Given the description of an element on the screen output the (x, y) to click on. 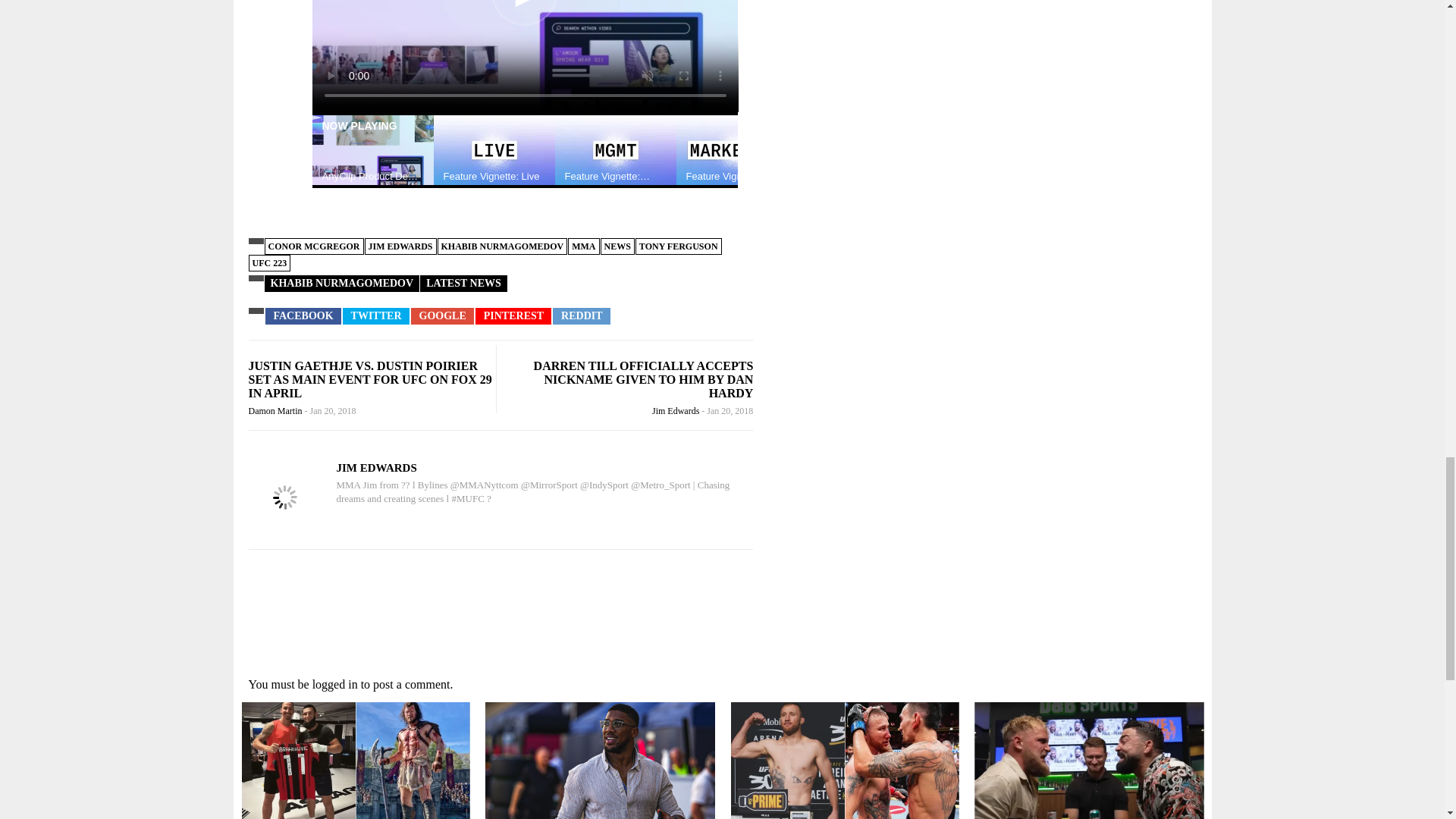
Play Video (524, 12)
